Given the description of an element on the screen output the (x, y) to click on. 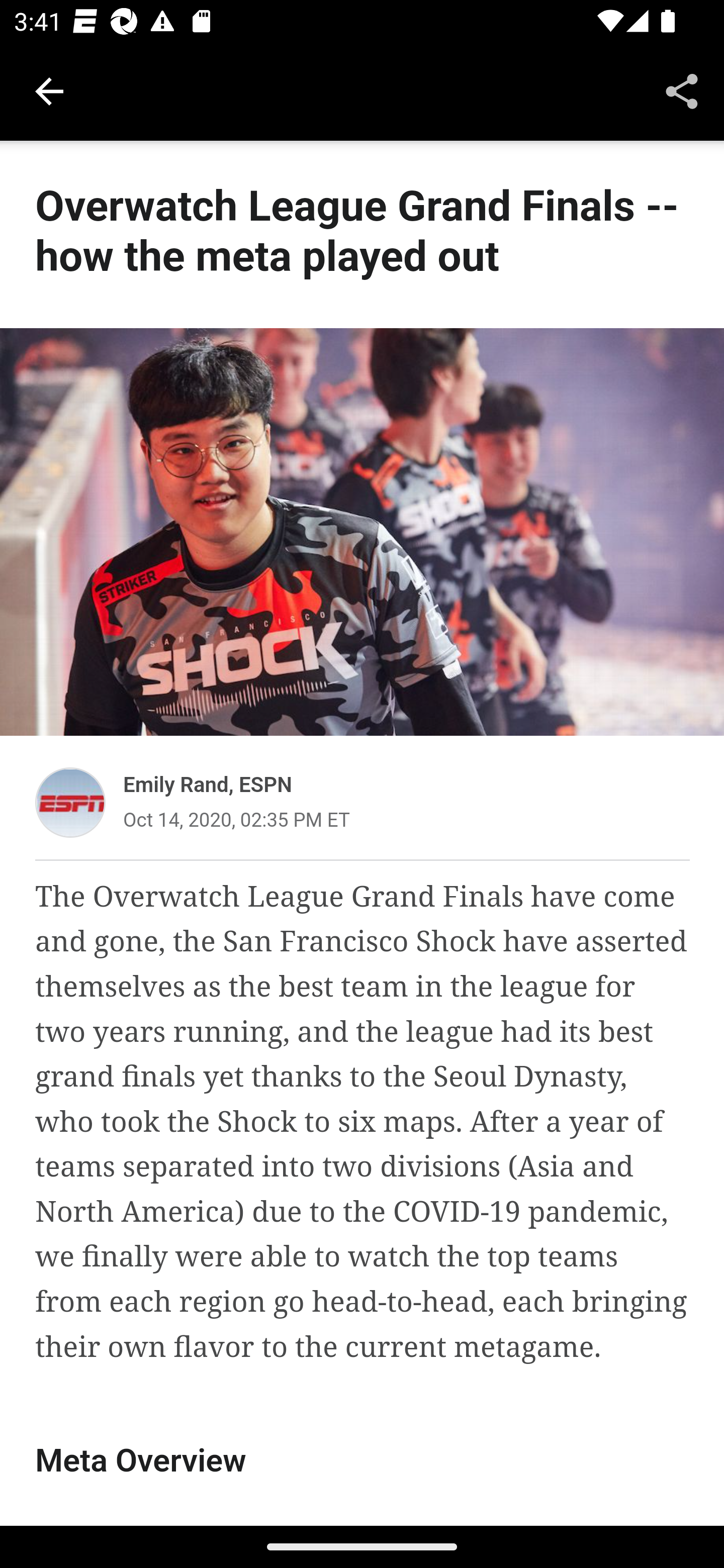
Navigate up (49, 91)
Share (681, 90)
